Given the description of an element on the screen output the (x, y) to click on. 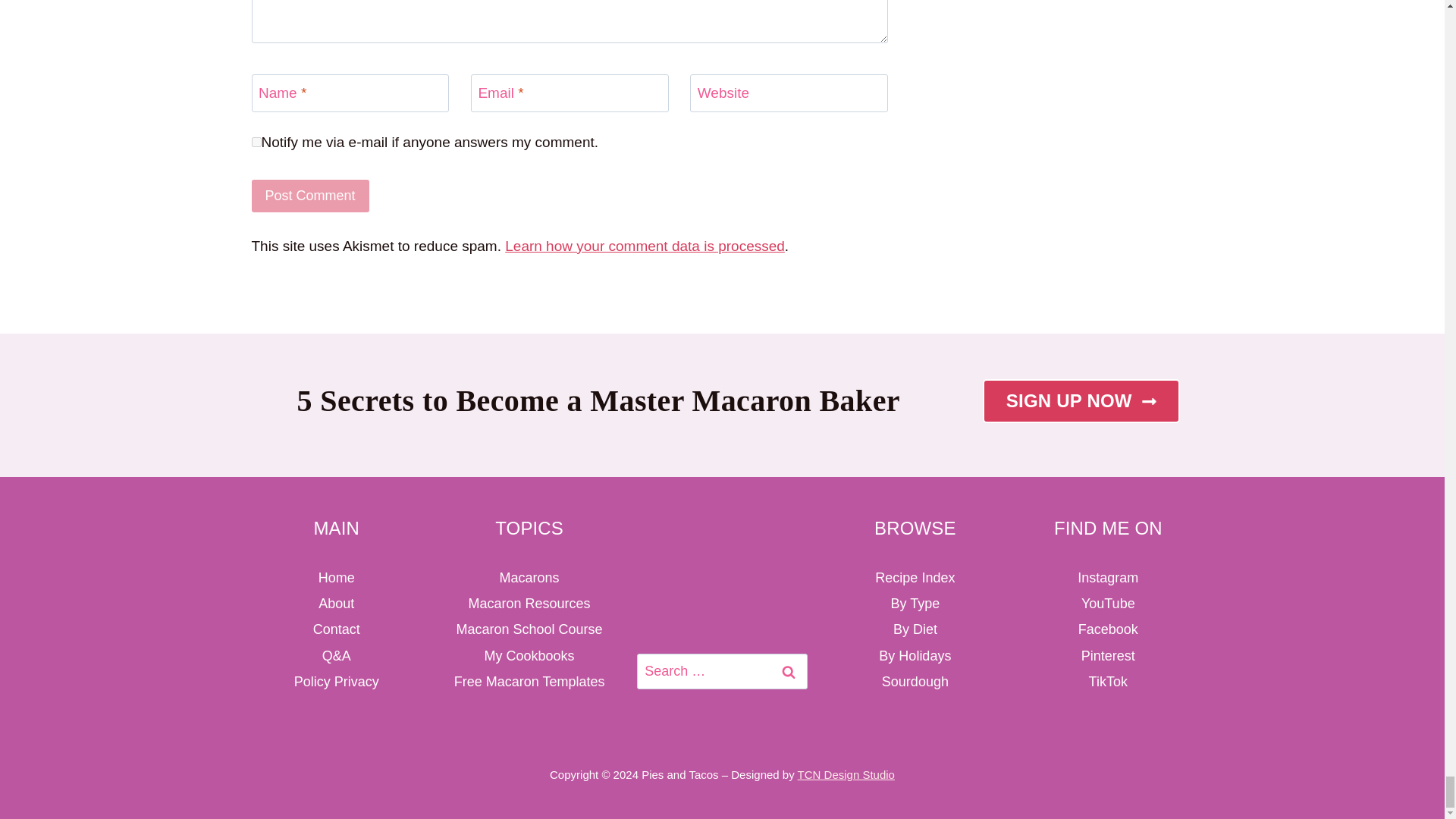
Search (789, 671)
on (256, 142)
Post Comment (310, 195)
Search (789, 671)
